Given the description of an element on the screen output the (x, y) to click on. 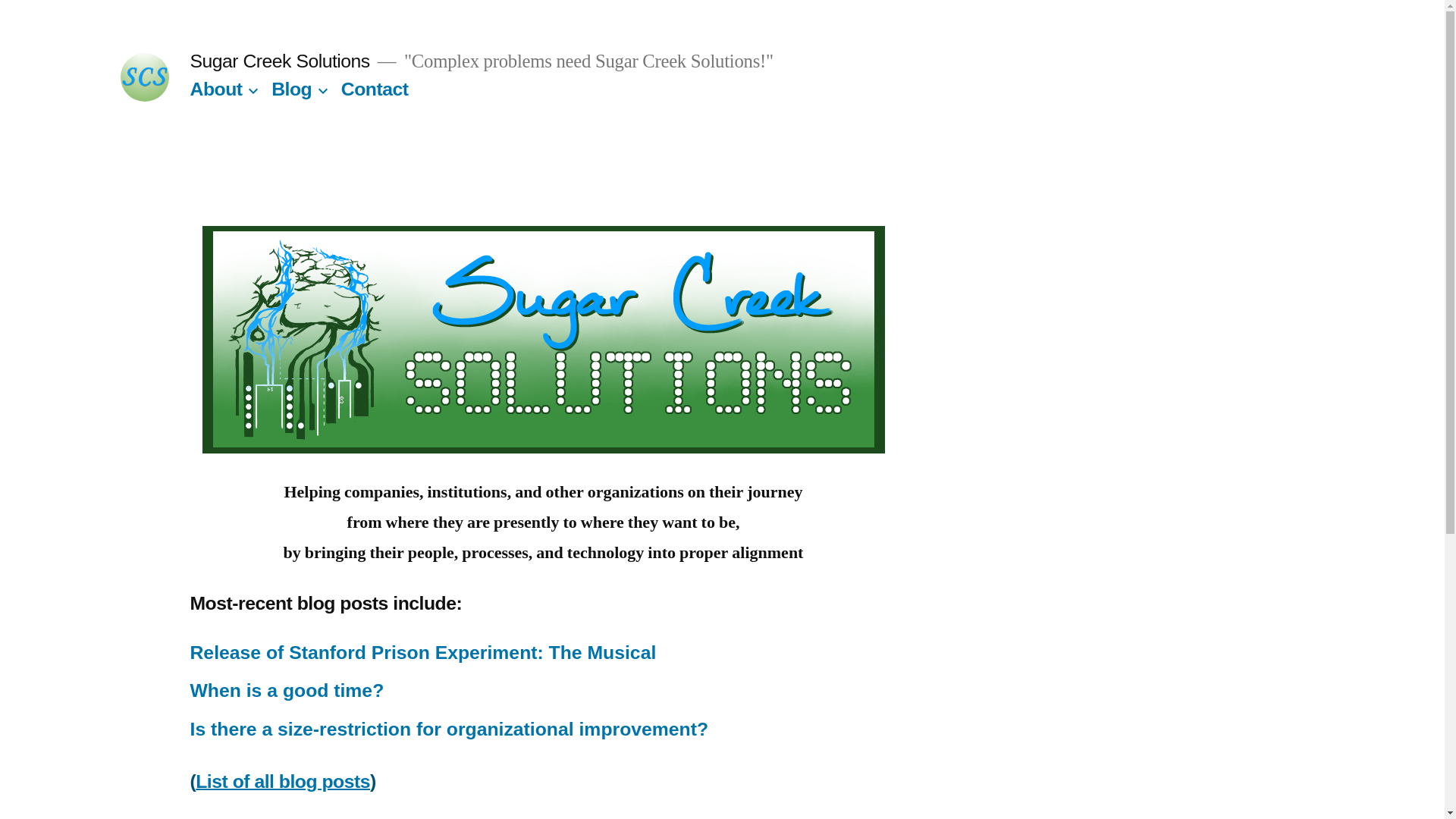
About (215, 88)
Sugar Creek Solutions (279, 60)
List of all blog posts (282, 781)
When is a good time? (286, 690)
Contact (374, 88)
Blog (290, 88)
Is there a size-restriction for organizational improvement? (448, 729)
Release of Stanford Prison Experiment: The Musical (422, 652)
